Given the description of an element on the screen output the (x, y) to click on. 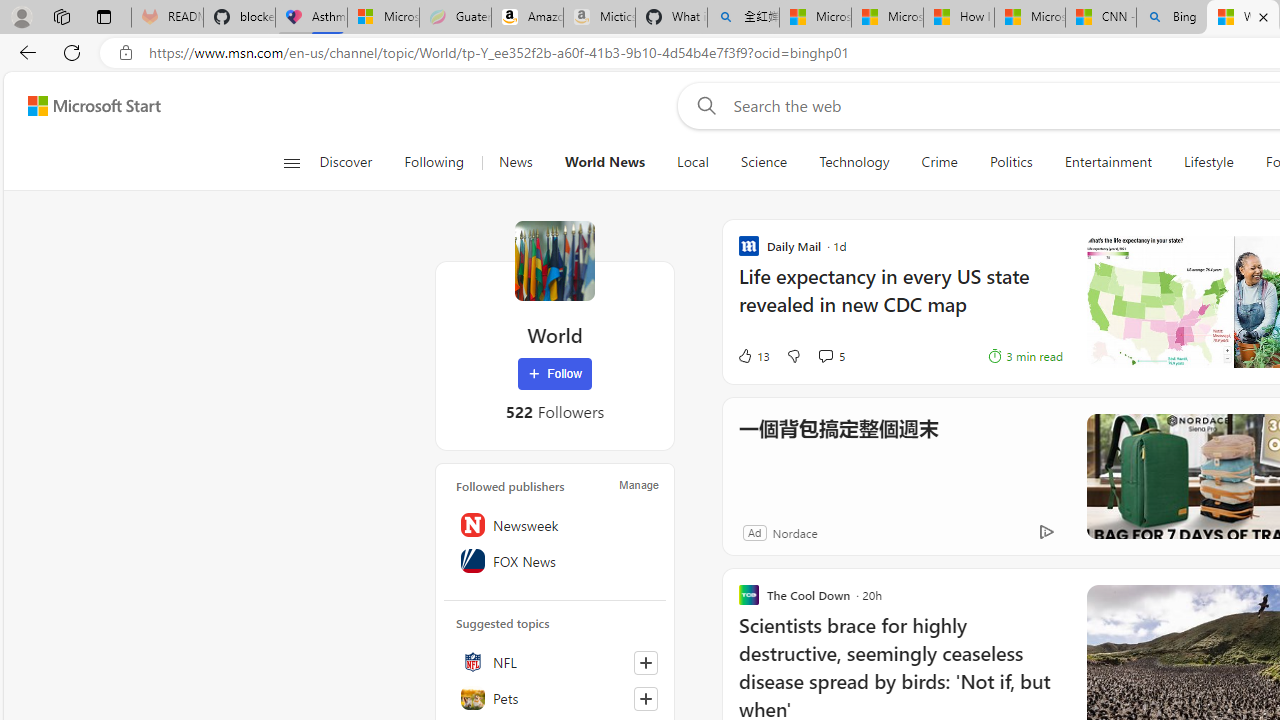
World (554, 260)
NFL (555, 661)
Technology (854, 162)
FOX News (555, 561)
Politics (1010, 162)
Follow (554, 373)
Follow this topic (645, 698)
13 Like (753, 355)
Science (763, 162)
Lifestyle (1207, 162)
Dislike (793, 355)
Politics (1010, 162)
